Given the description of an element on the screen output the (x, y) to click on. 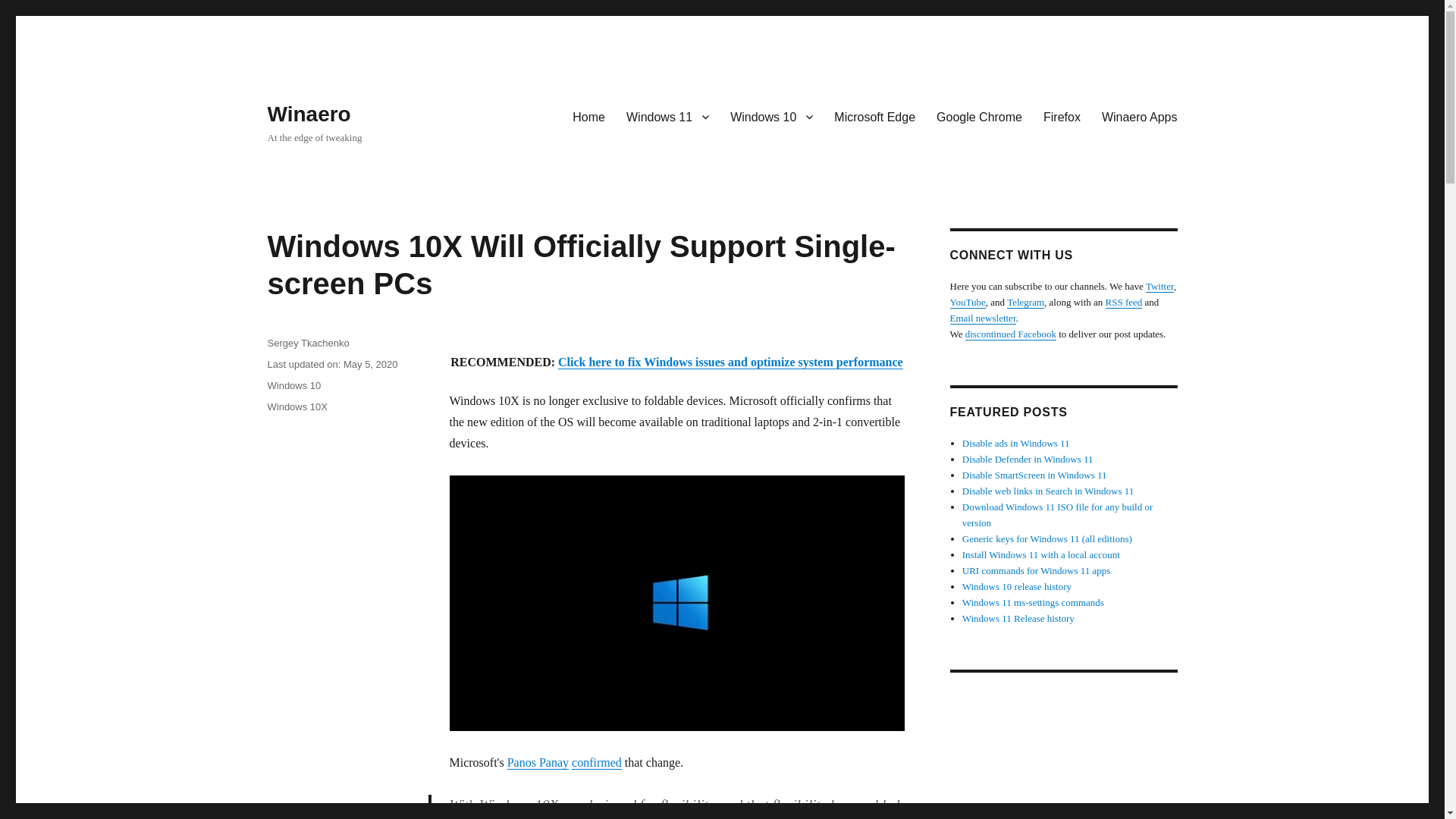
Join our Telegram channel (1025, 301)
Winaero (308, 114)
Subscribe with email (981, 317)
Winaero Apps (1139, 116)
Google Chrome (979, 116)
Winaero on YouTube (967, 301)
Windows 10 (771, 116)
Windows 10X (296, 406)
Windows 11 (667, 116)
Home (588, 116)
